Given the description of an element on the screen output the (x, y) to click on. 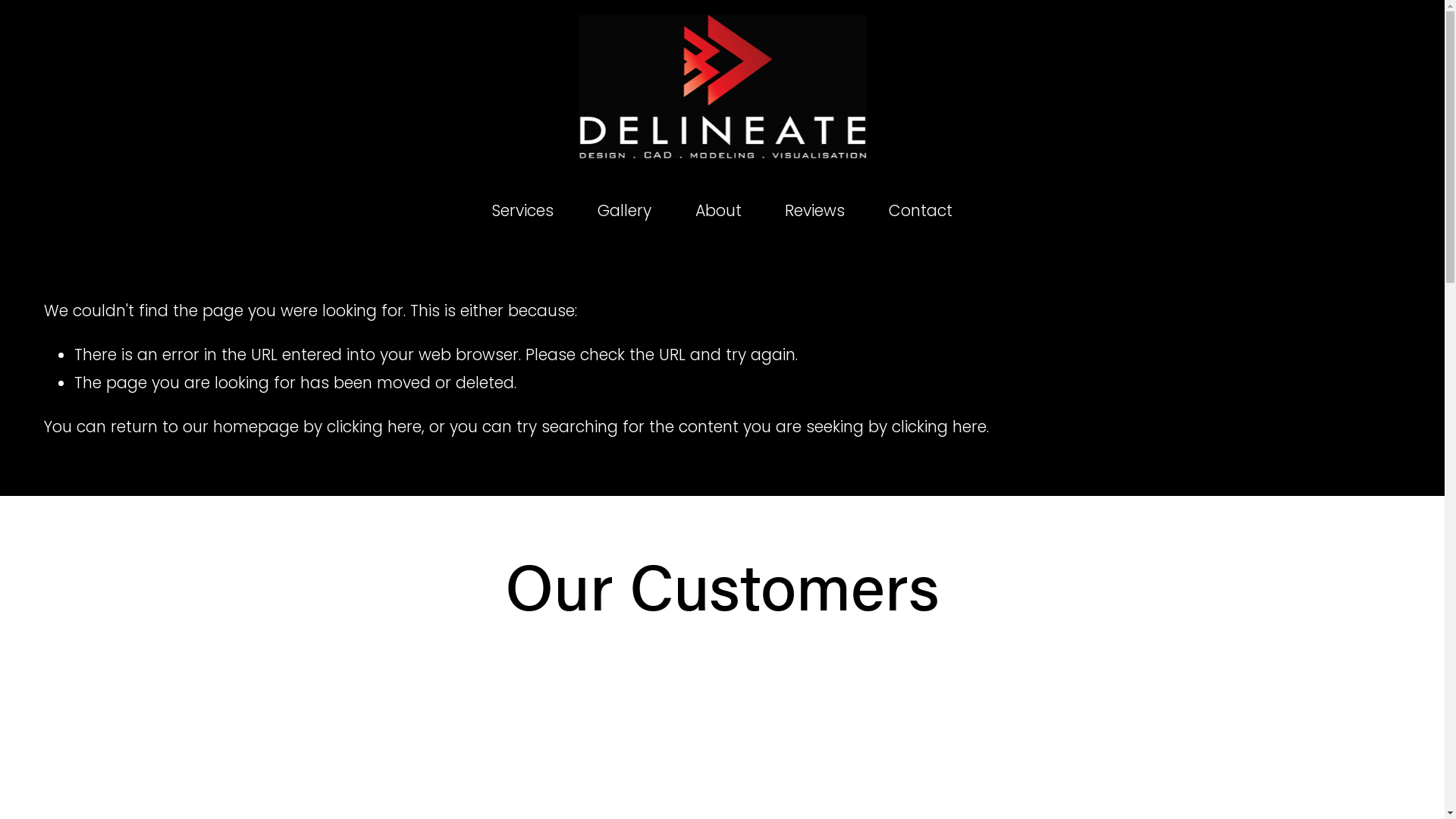
clicking here Element type: text (938, 426)
Contact Element type: text (920, 209)
clicking here Element type: text (373, 426)
Services Element type: text (522, 209)
About Element type: text (717, 209)
Gallery Element type: text (624, 209)
Reviews Element type: text (814, 209)
